Given the description of an element on the screen output the (x, y) to click on. 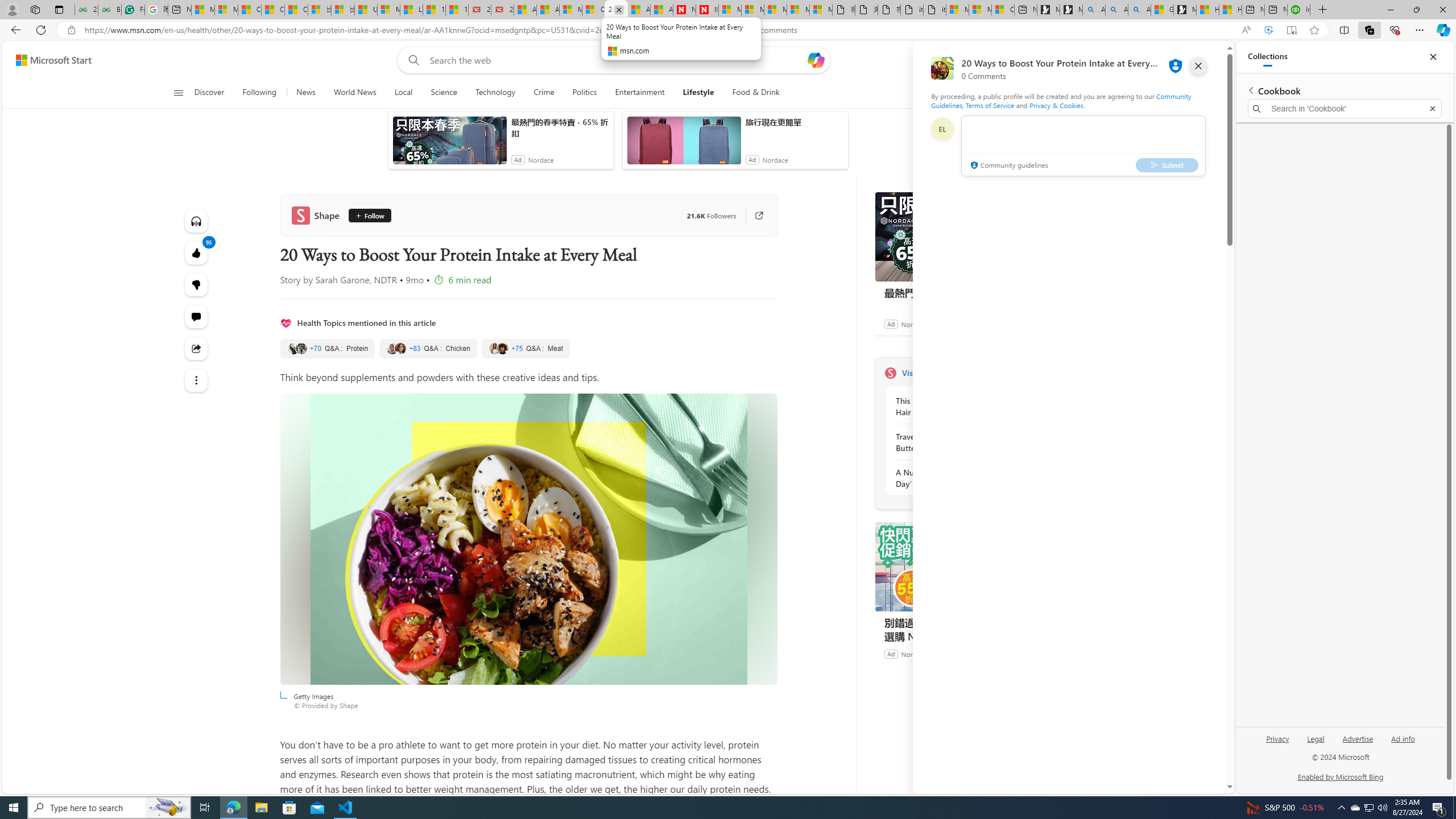
Lifestyle (698, 92)
Open navigation menu (177, 92)
close (1198, 65)
Legal (1315, 742)
Ad info (1402, 738)
Exit search (1432, 108)
